Given the description of an element on the screen output the (x, y) to click on. 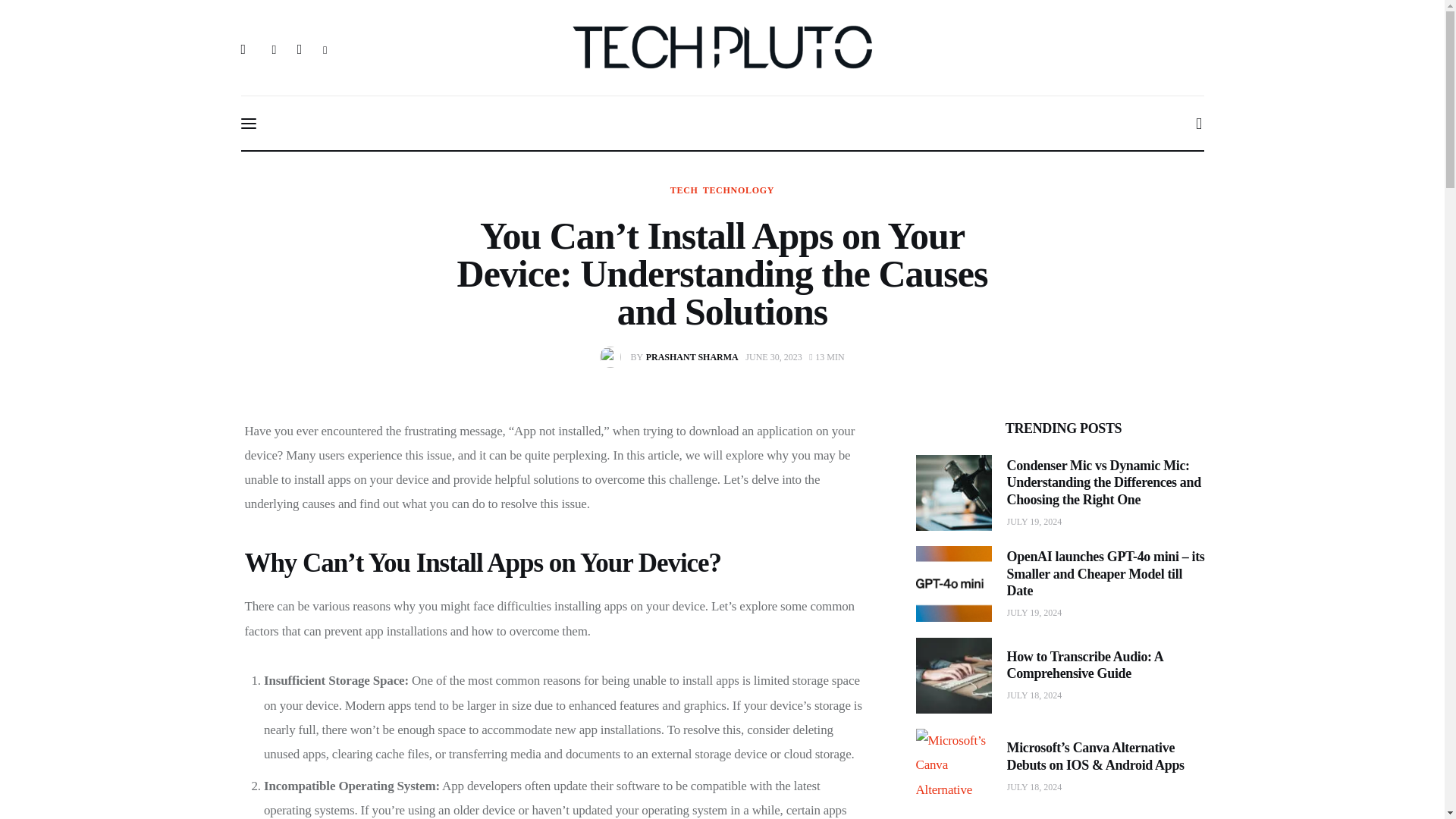
TECH (683, 190)
TECHNOLOGY (738, 190)
13 MIN (826, 356)
